Given the description of an element on the screen output the (x, y) to click on. 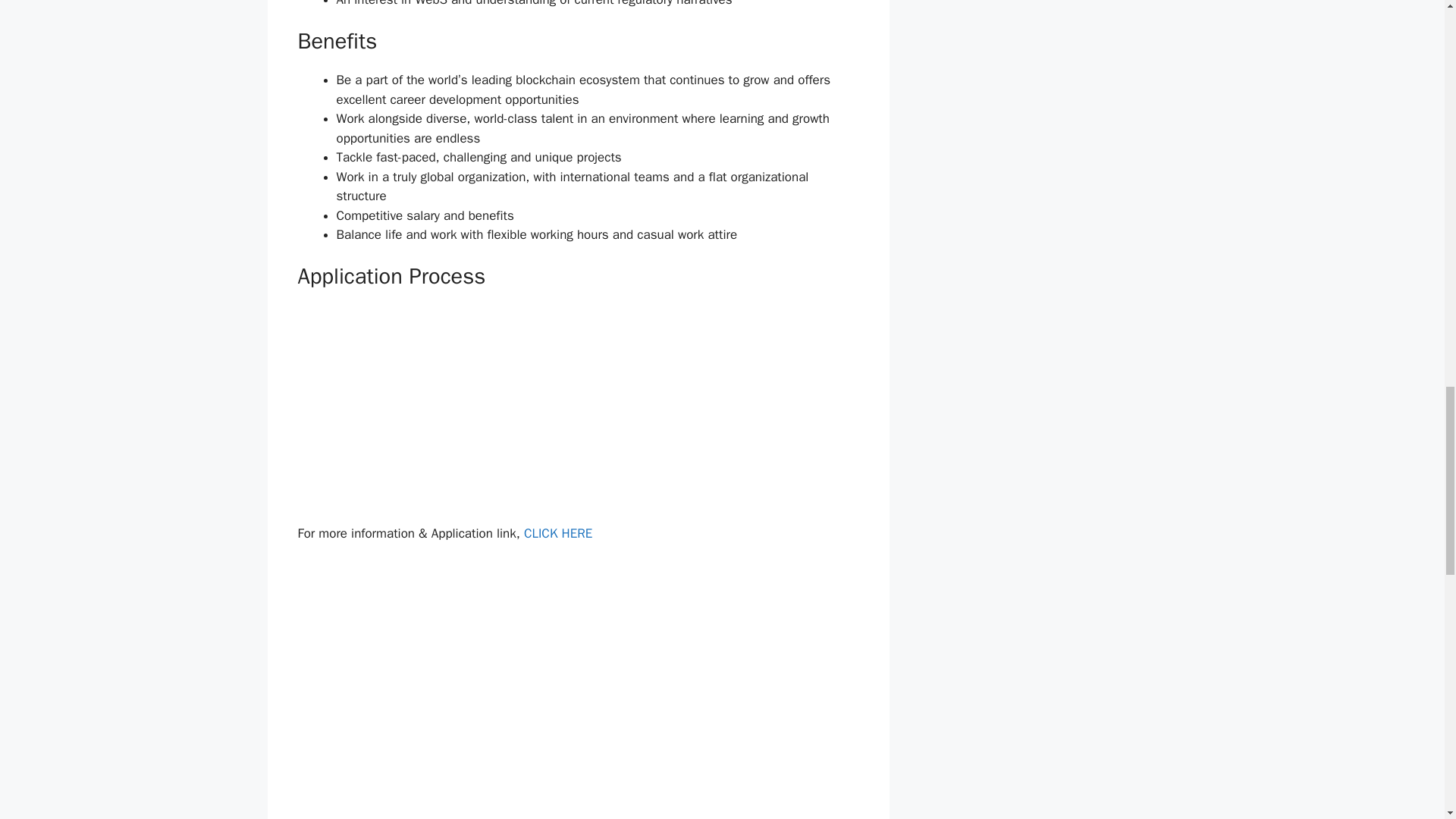
CLICK HERE (558, 533)
Advertisement (578, 729)
Advertisement (578, 411)
